Given the description of an element on the screen output the (x, y) to click on. 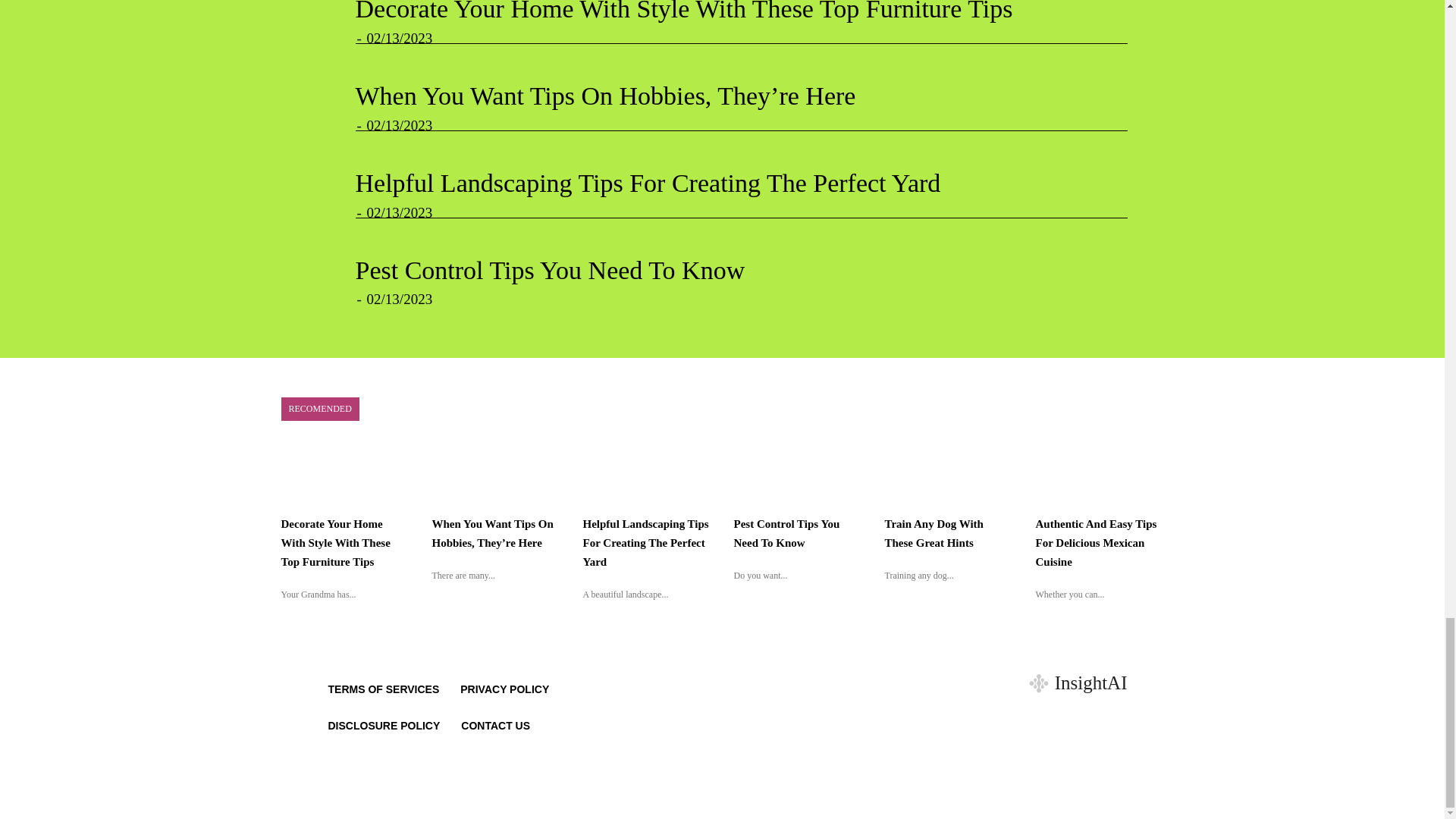
Decorate Your Home With Style With These Top Furniture Tips (683, 11)
Helpful Landscaping Tips For Creating The Perfect Yard (647, 182)
Pest Control Tips You Need To Know (549, 270)
Helpful Landscaping Tips For Creating The Perfect Yard (647, 182)
Decorate Your Home With Style With These Top Furniture Tips (335, 542)
Decorate Your Home With Style With These Top Furniture Tips (683, 11)
